Given the description of an element on the screen output the (x, y) to click on. 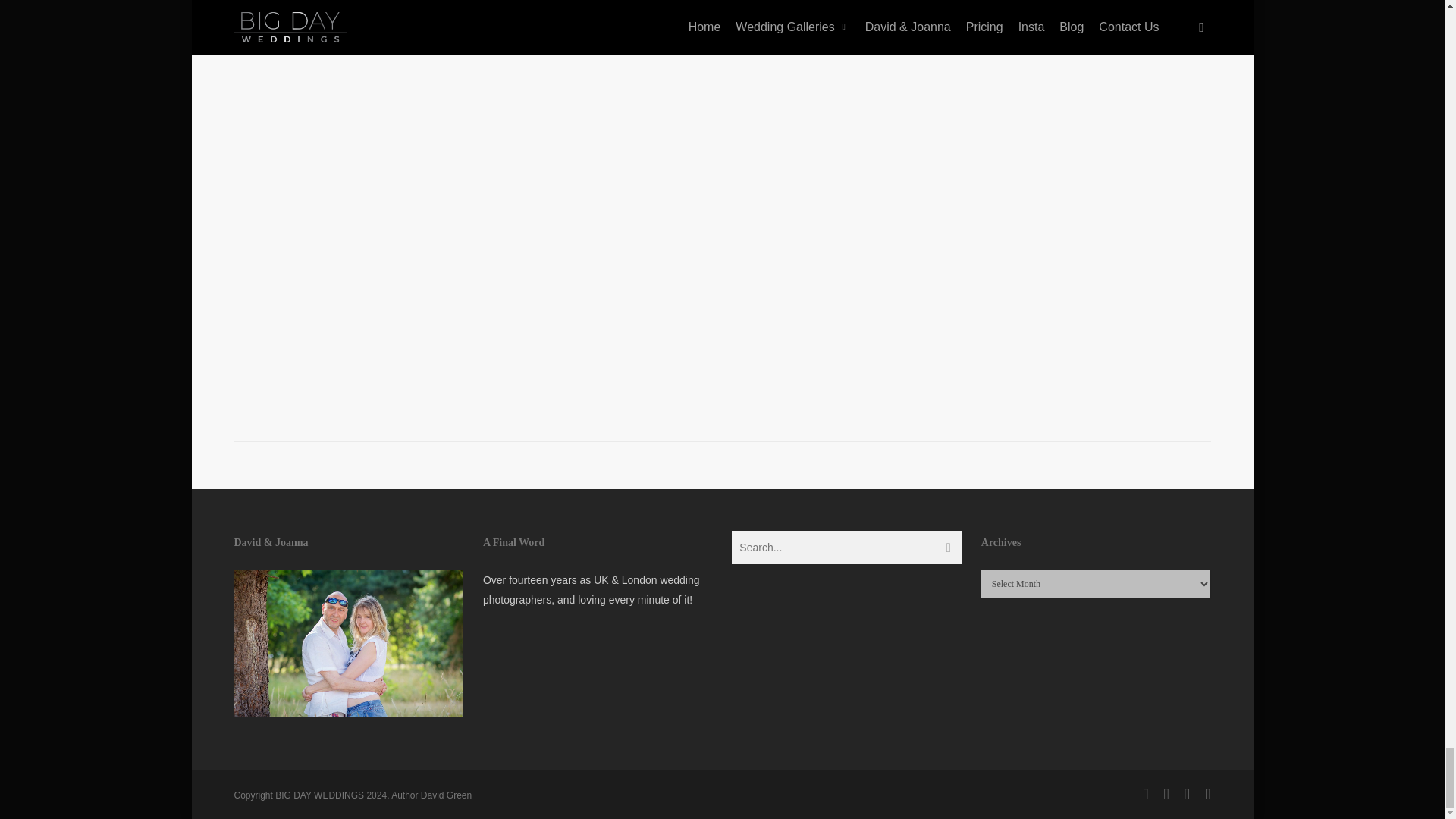
Search for: (846, 547)
